Given the description of an element on the screen output the (x, y) to click on. 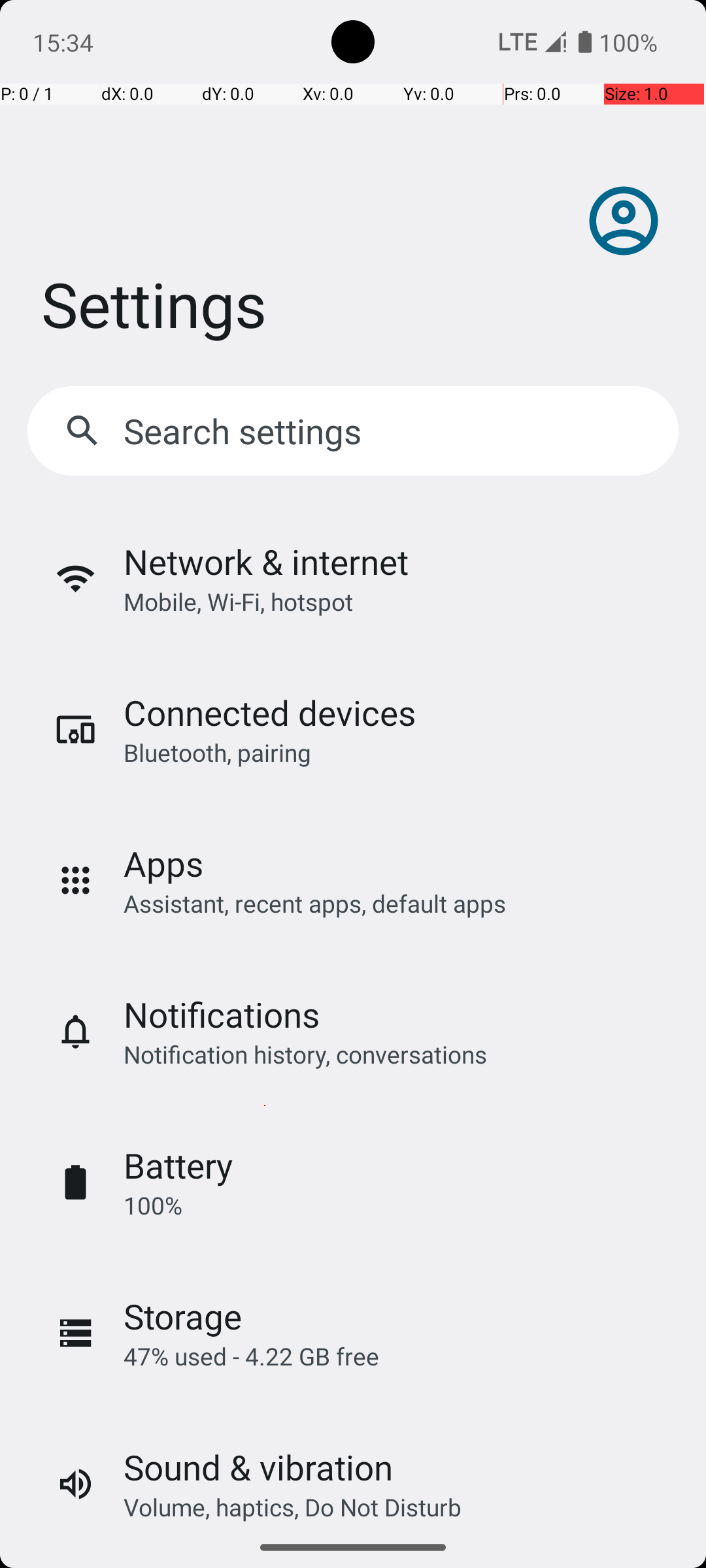
47% used - 4.22 GB free Element type: android.widget.TextView (251, 1355)
